Given the description of an element on the screen output the (x, y) to click on. 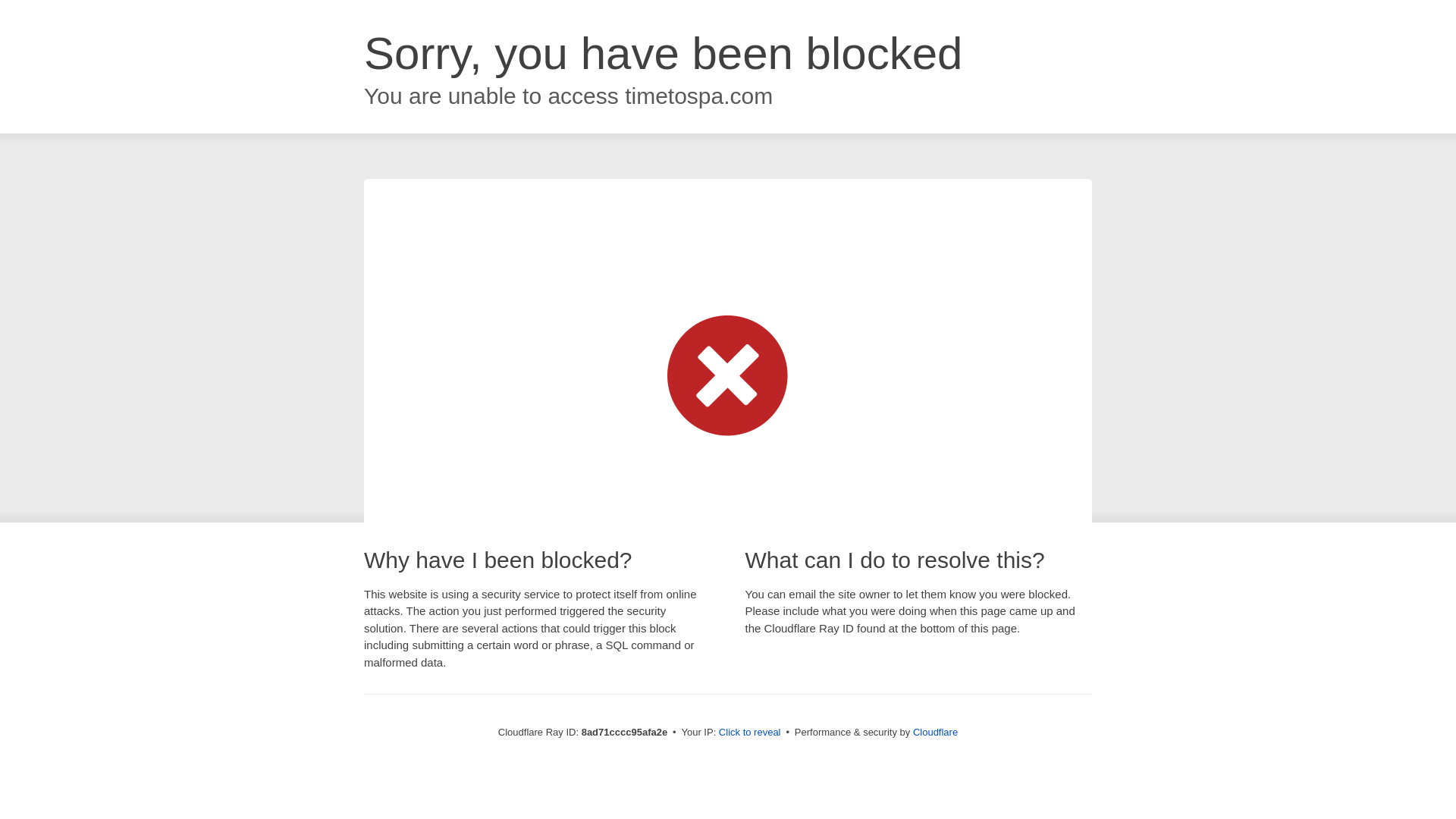
Cloudflare (935, 731)
Click to reveal (749, 732)
